Given the description of an element on the screen output the (x, y) to click on. 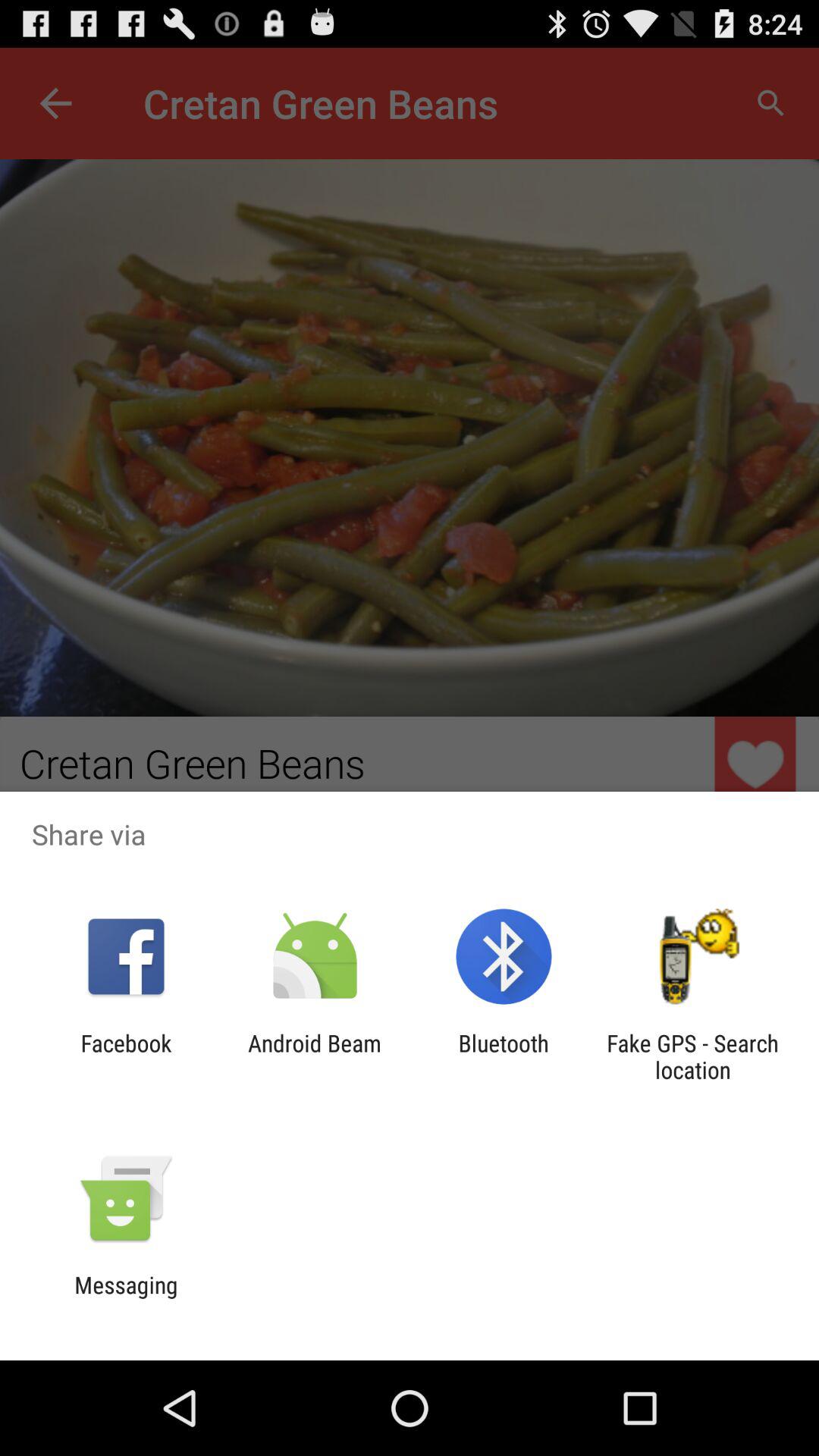
swipe to the android beam icon (314, 1056)
